Given the description of an element on the screen output the (x, y) to click on. 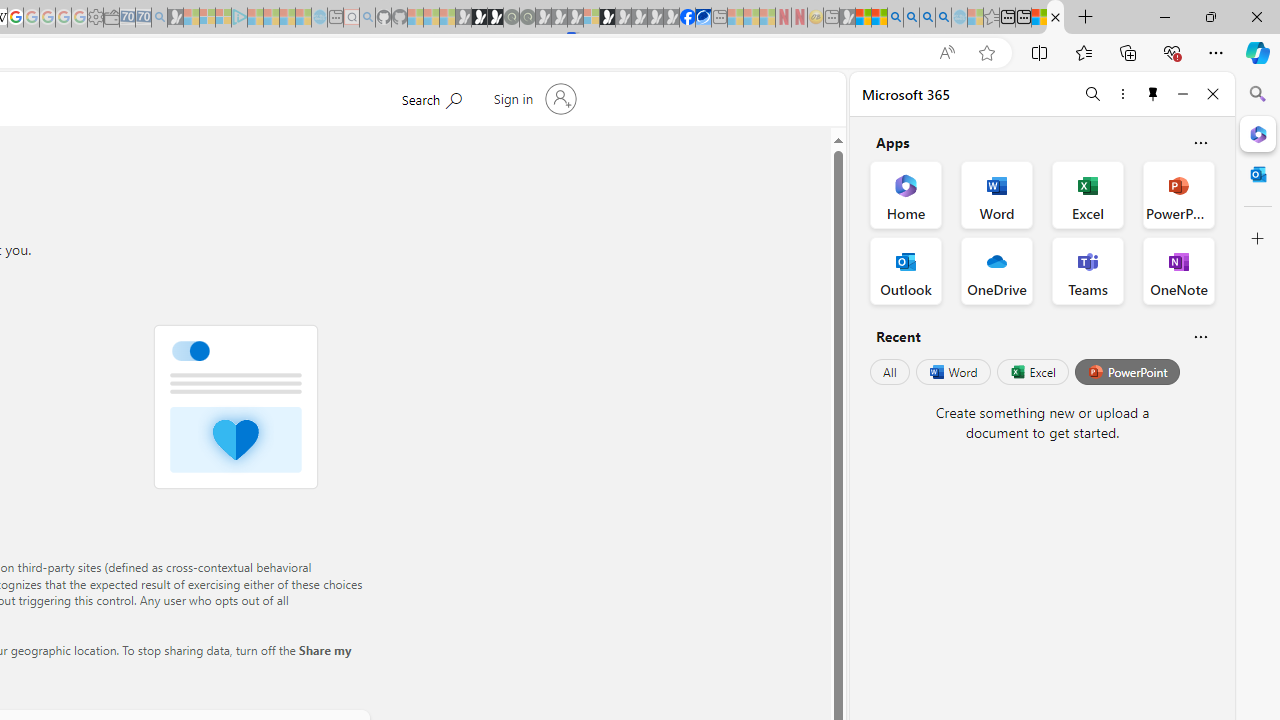
Word (952, 372)
Is this helpful? (1200, 336)
